Given the description of an element on the screen output the (x, y) to click on. 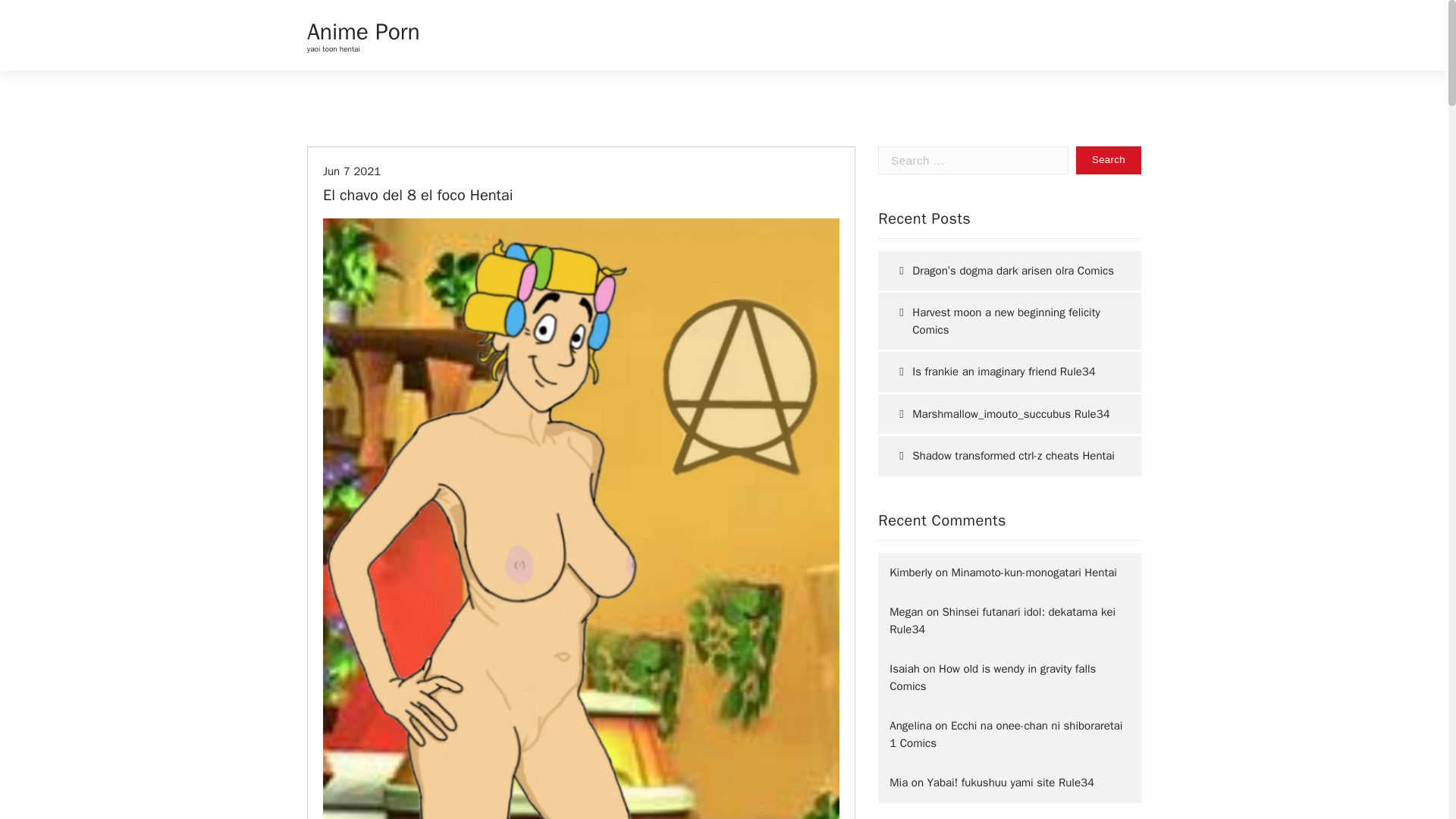
Yabai! fukushuu yami site Rule34 (1010, 782)
Search (1108, 160)
How old is wendy in gravity falls Comics (992, 676)
Ecchi na onee-chan ni shiboraretai 1 Comics (1005, 734)
Harvest moon a new beginning felicity Comics (1009, 320)
Minamoto-kun-monogatari Hentai (1034, 572)
Shadow transformed ctrl-z cheats Hentai (1009, 455)
Search (1108, 160)
Search (1108, 160)
Anime Porn (363, 31)
